Given the description of an element on the screen output the (x, y) to click on. 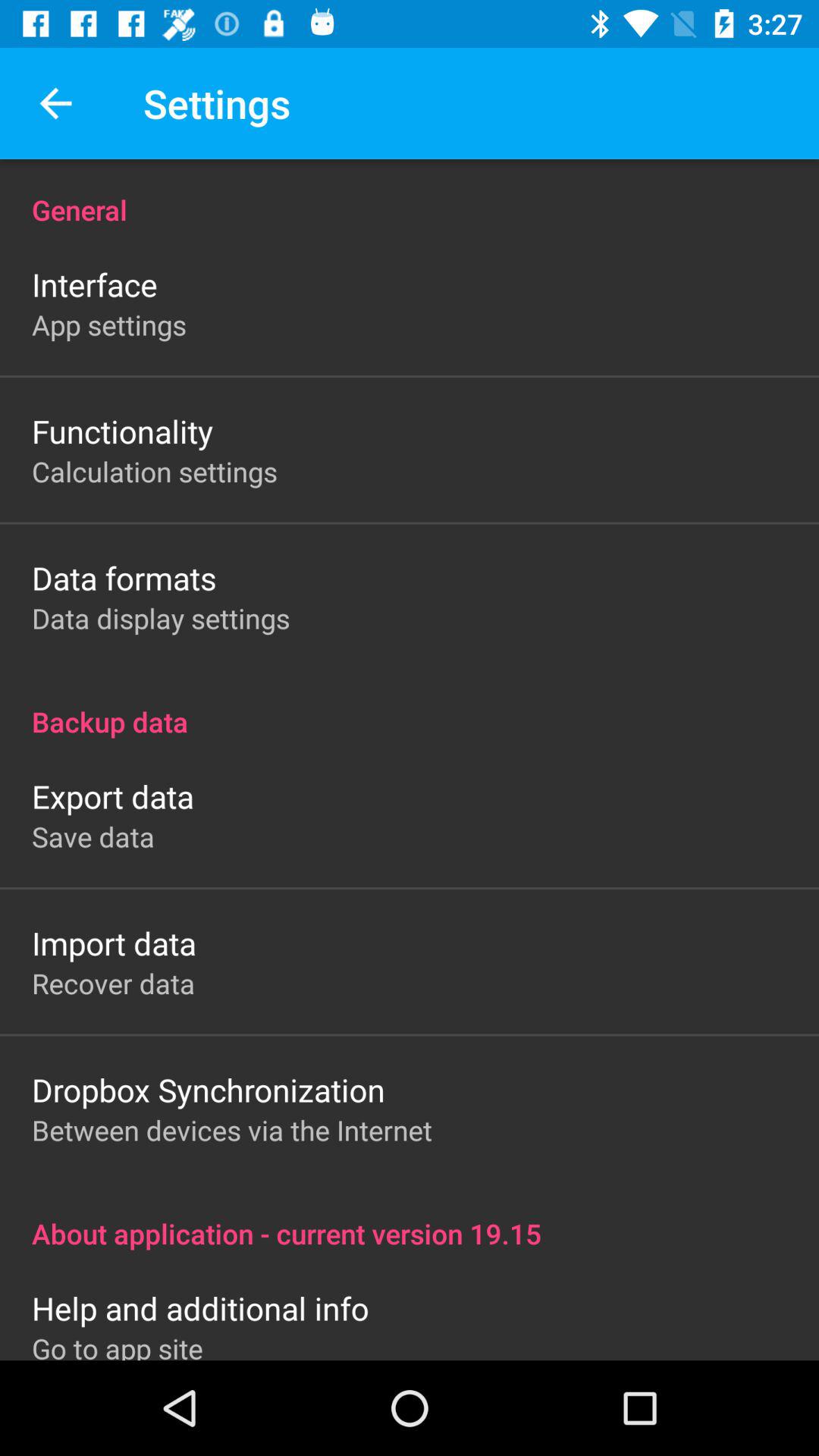
turn on item above the help and additional item (409, 1217)
